Given the description of an element on the screen output the (x, y) to click on. 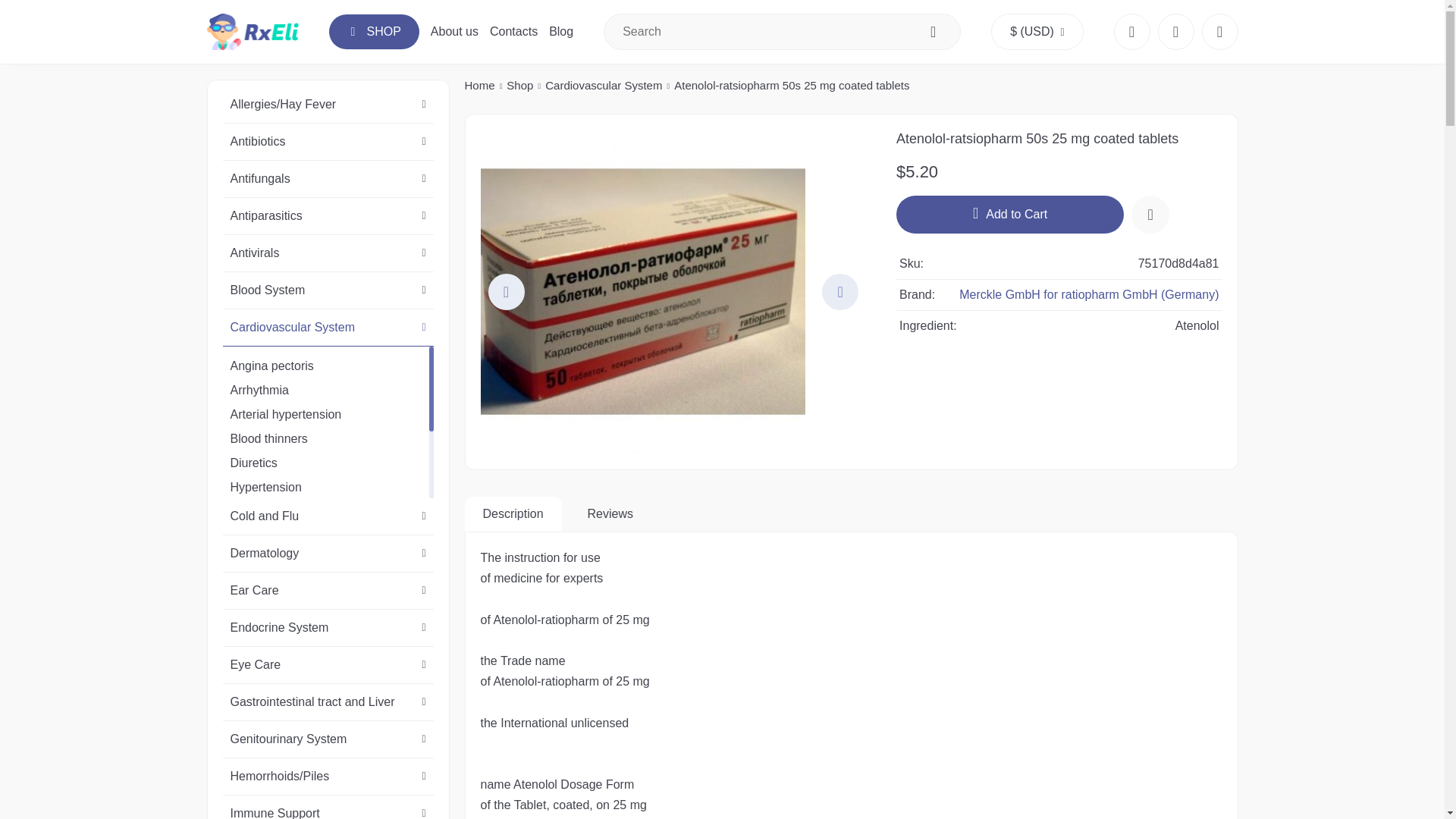
Contacts (513, 31)
Atenolol-ratsiopharm 50s 25 mg coated tablets (673, 291)
0 (1175, 31)
My Account (1131, 31)
Add to Wish List (1150, 214)
About us (454, 31)
RxEli (252, 31)
Atenolol-ratsiopharm 50s 25 mg coated tablets (642, 291)
Blog (560, 31)
View Cart (1219, 31)
